Given the description of an element on the screen output the (x, y) to click on. 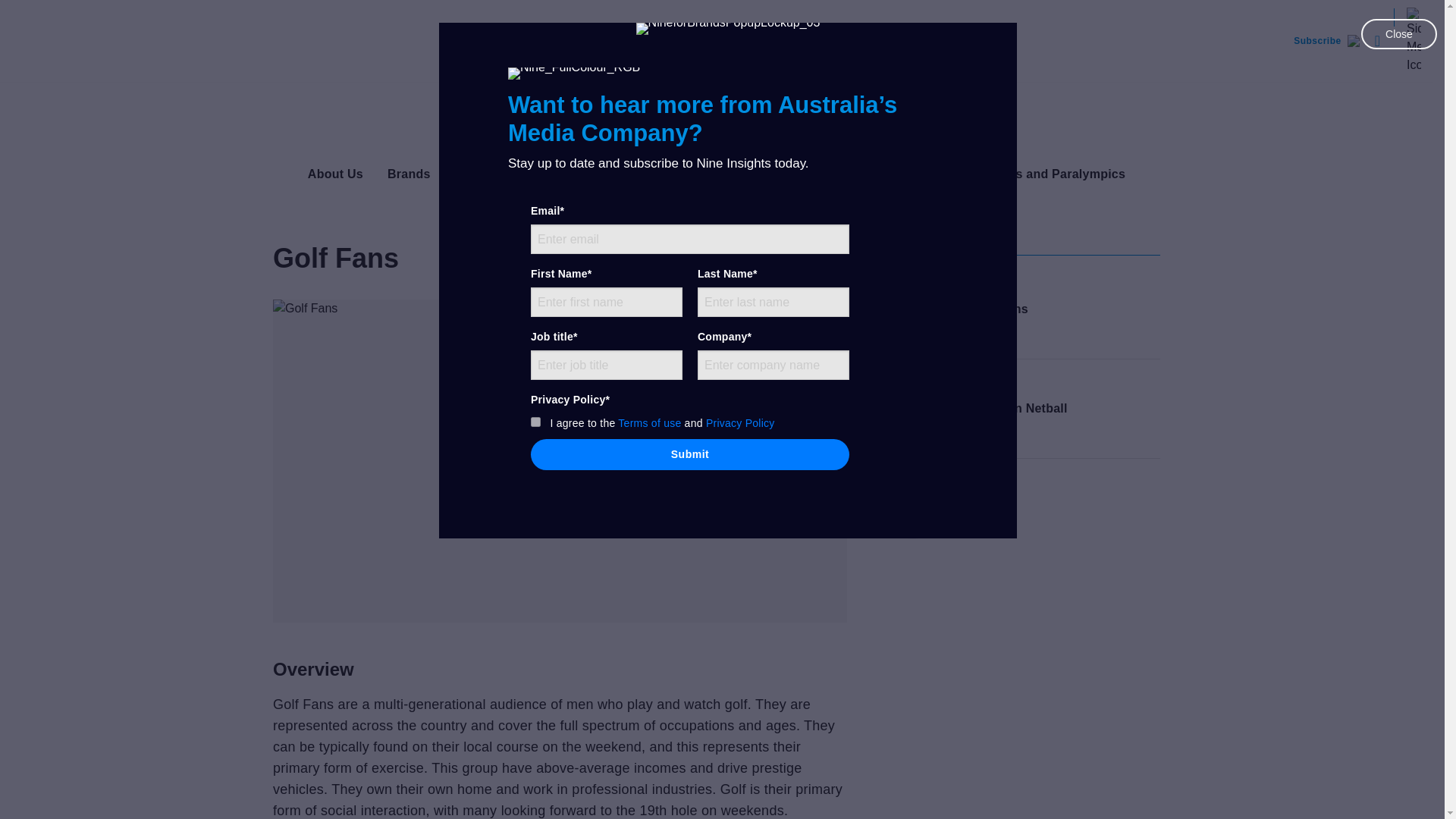
true (535, 421)
Submit (689, 454)
Subscribe (1324, 40)
